Given the description of an element on the screen output the (x, y) to click on. 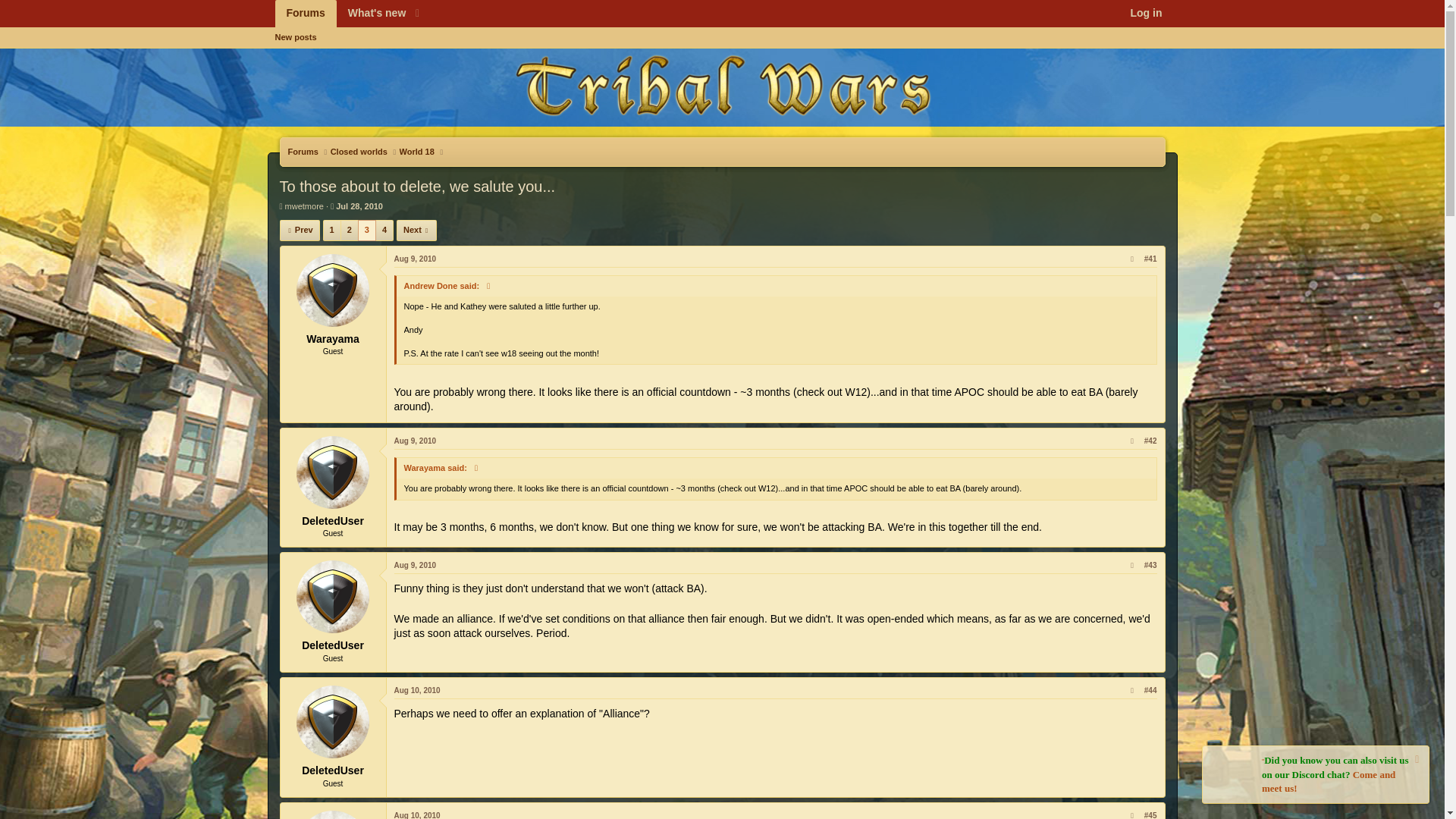
Forums (303, 151)
Closed worlds (358, 151)
Forums (305, 13)
Aug 9, 2010 at 9:40 PM (415, 258)
Jul 28, 2010 at 12:42 AM (359, 205)
Aug 10, 2010 at 6:41 PM (417, 815)
Aug 9, 2010 at 11:47 PM (415, 440)
Jul 28, 2010 (359, 205)
